Given the description of an element on the screen output the (x, y) to click on. 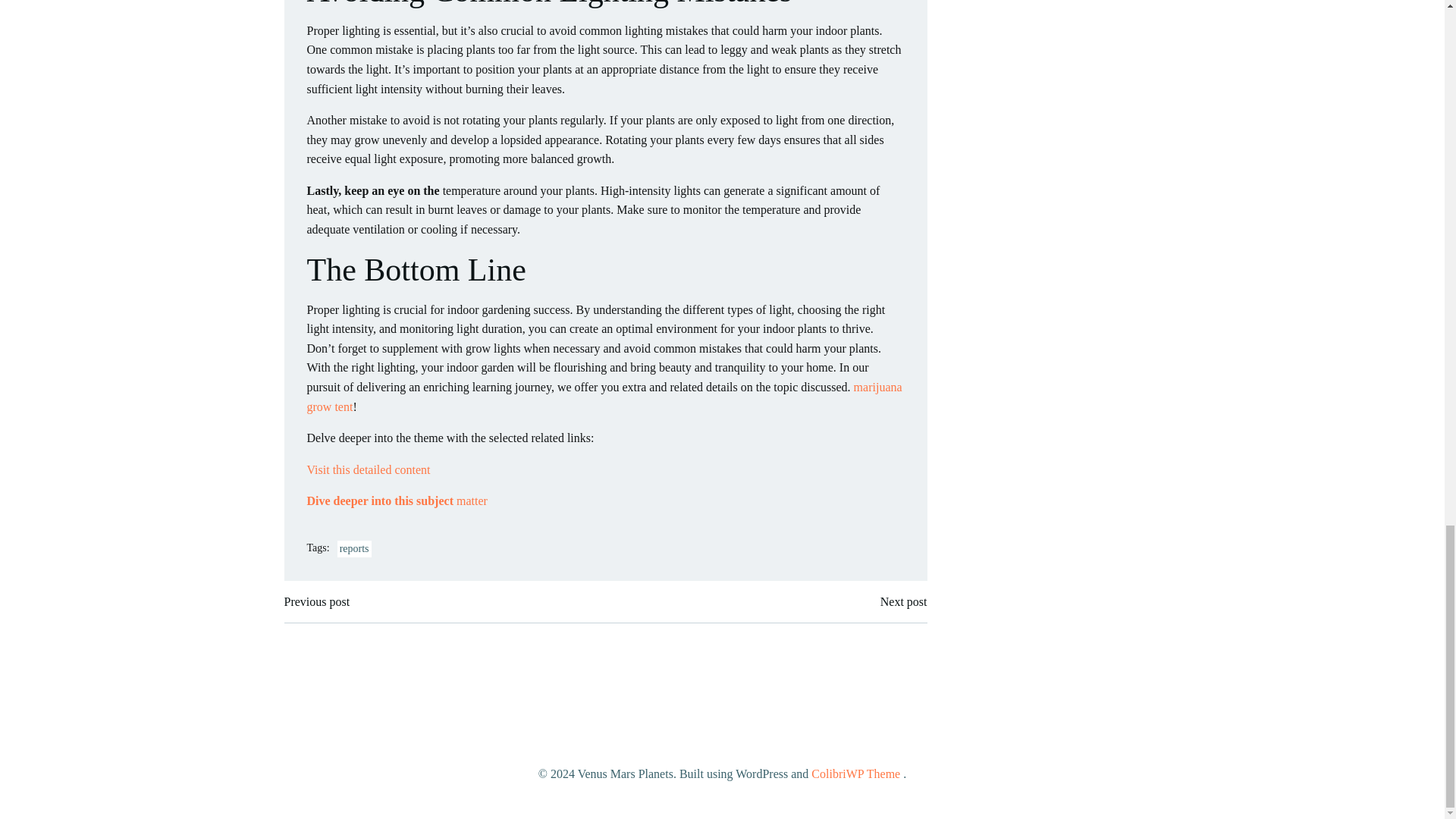
Dive deeper into this subject matter (395, 500)
Visit this detailed content (367, 469)
reports (354, 548)
Previous post (316, 601)
ColibriWP Theme (854, 773)
Tag: reports (354, 548)
Next post (903, 601)
marijuana grow tent (603, 396)
